Given the description of an element on the screen output the (x, y) to click on. 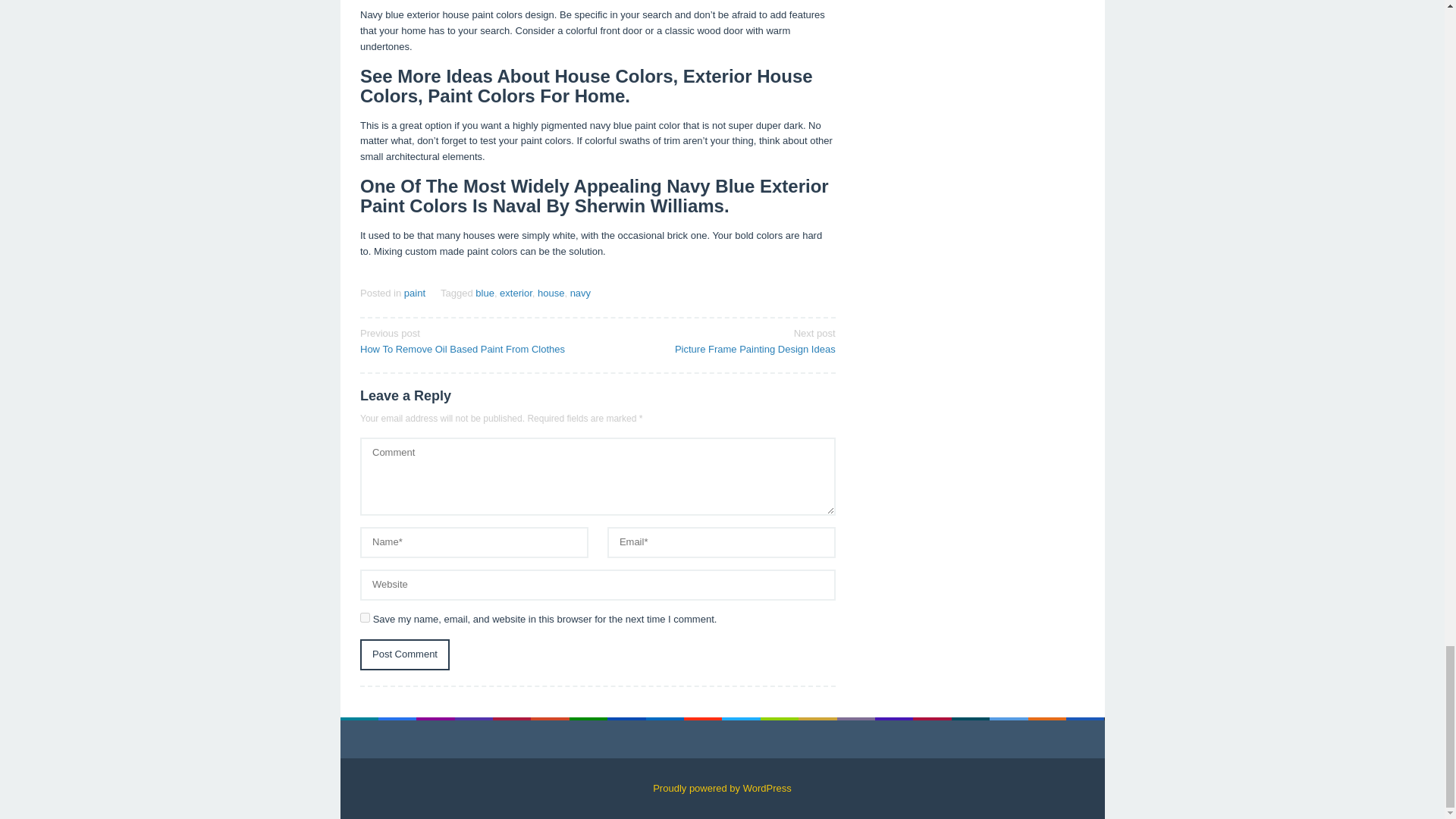
exterior (515, 292)
blue (485, 292)
paint (414, 292)
Post Comment (404, 654)
Post Comment (404, 654)
yes (721, 339)
navy (364, 617)
house (580, 292)
